Given the description of an element on the screen output the (x, y) to click on. 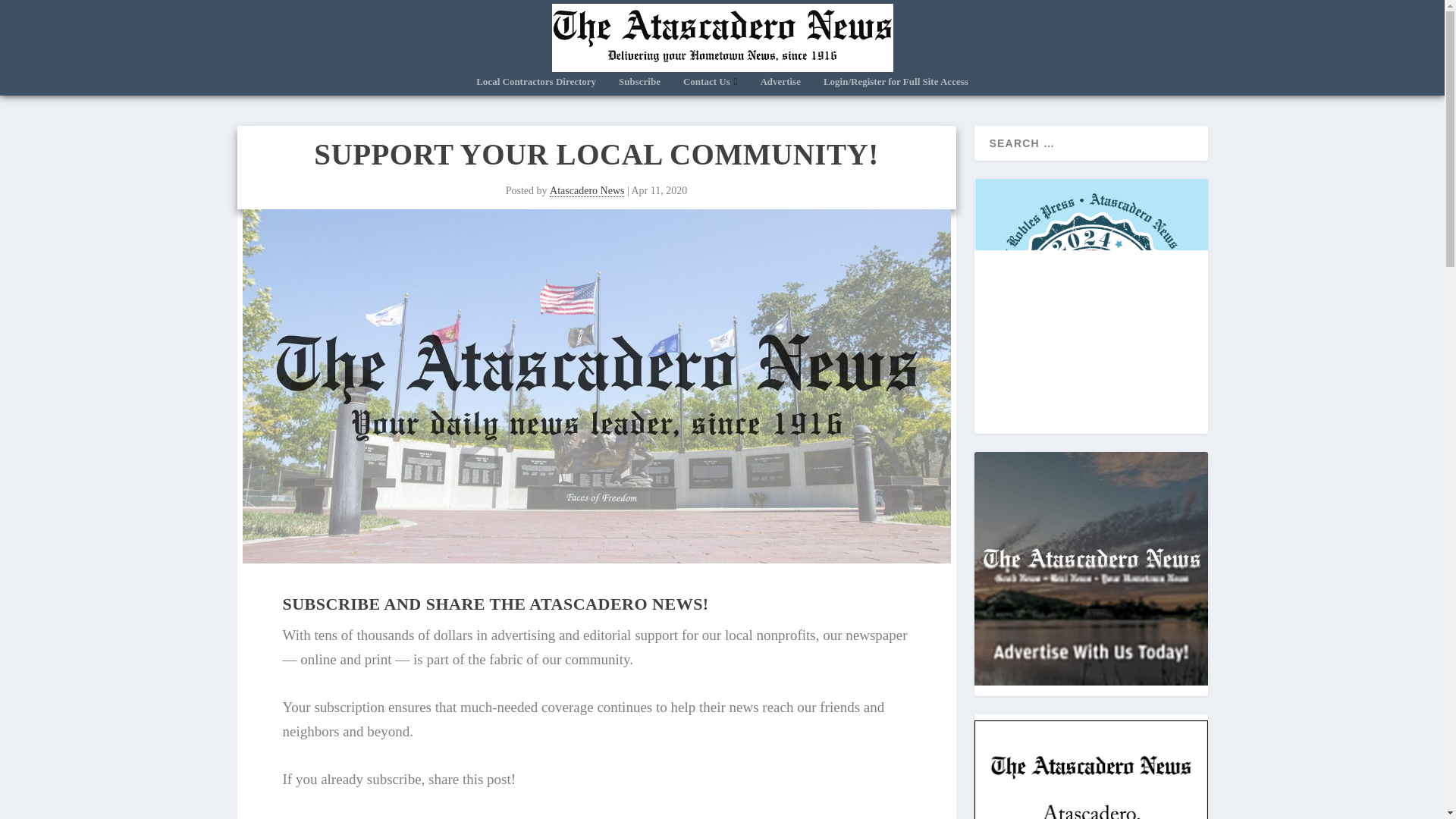
Atascadero News (587, 191)
Posts by Atascadero News (587, 191)
Subscribe (639, 85)
Search (31, 11)
Contact Us (710, 85)
Local Contractors Directory (535, 85)
Advertise (779, 85)
